Given the description of an element on the screen output the (x, y) to click on. 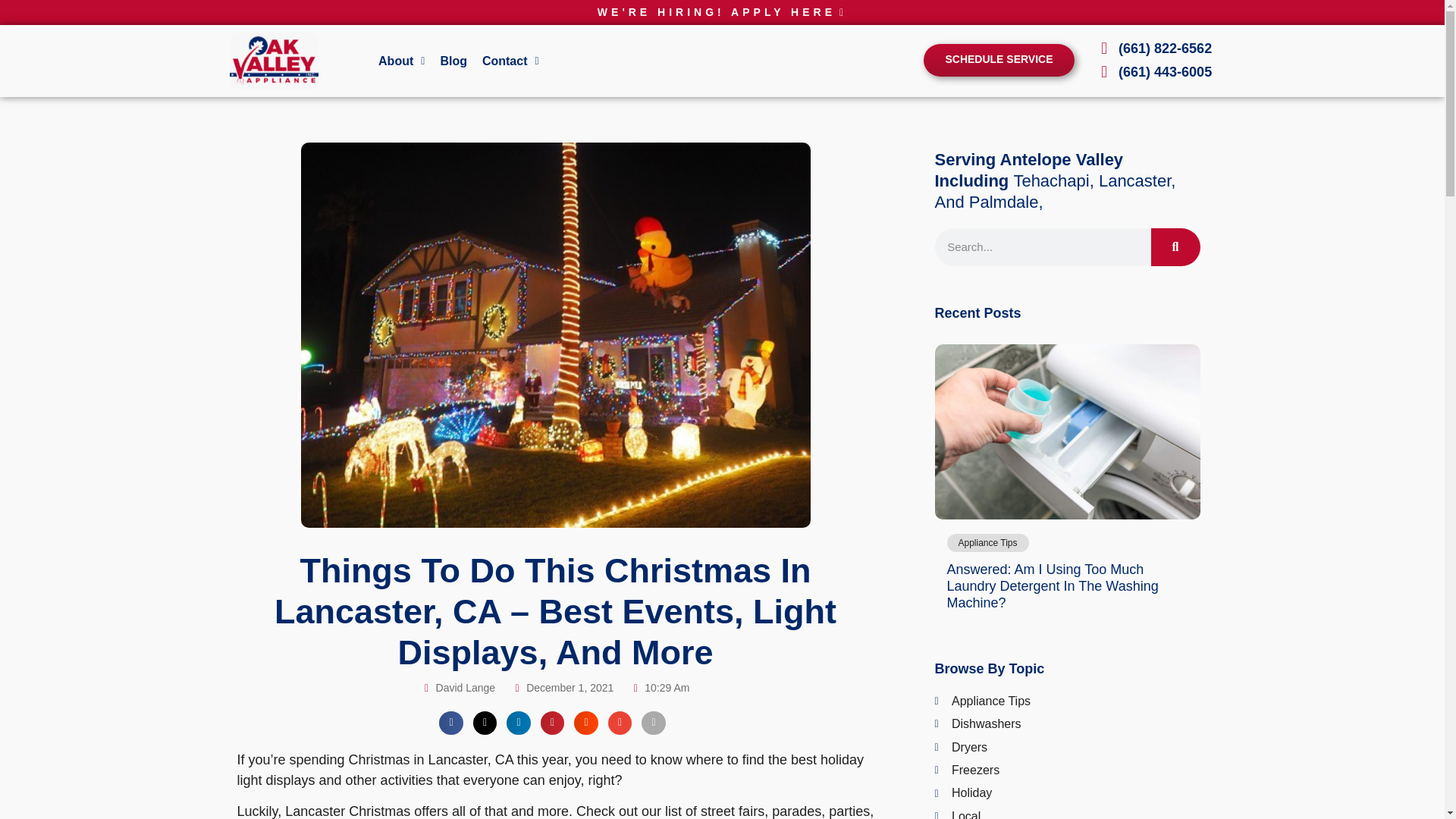
WE'RE HIRING! APPLY HERE (721, 12)
SCHEDULE SERVICE (998, 60)
Blog (453, 60)
David Lange (459, 688)
Contact (510, 60)
About (401, 60)
